Given the description of an element on the screen output the (x, y) to click on. 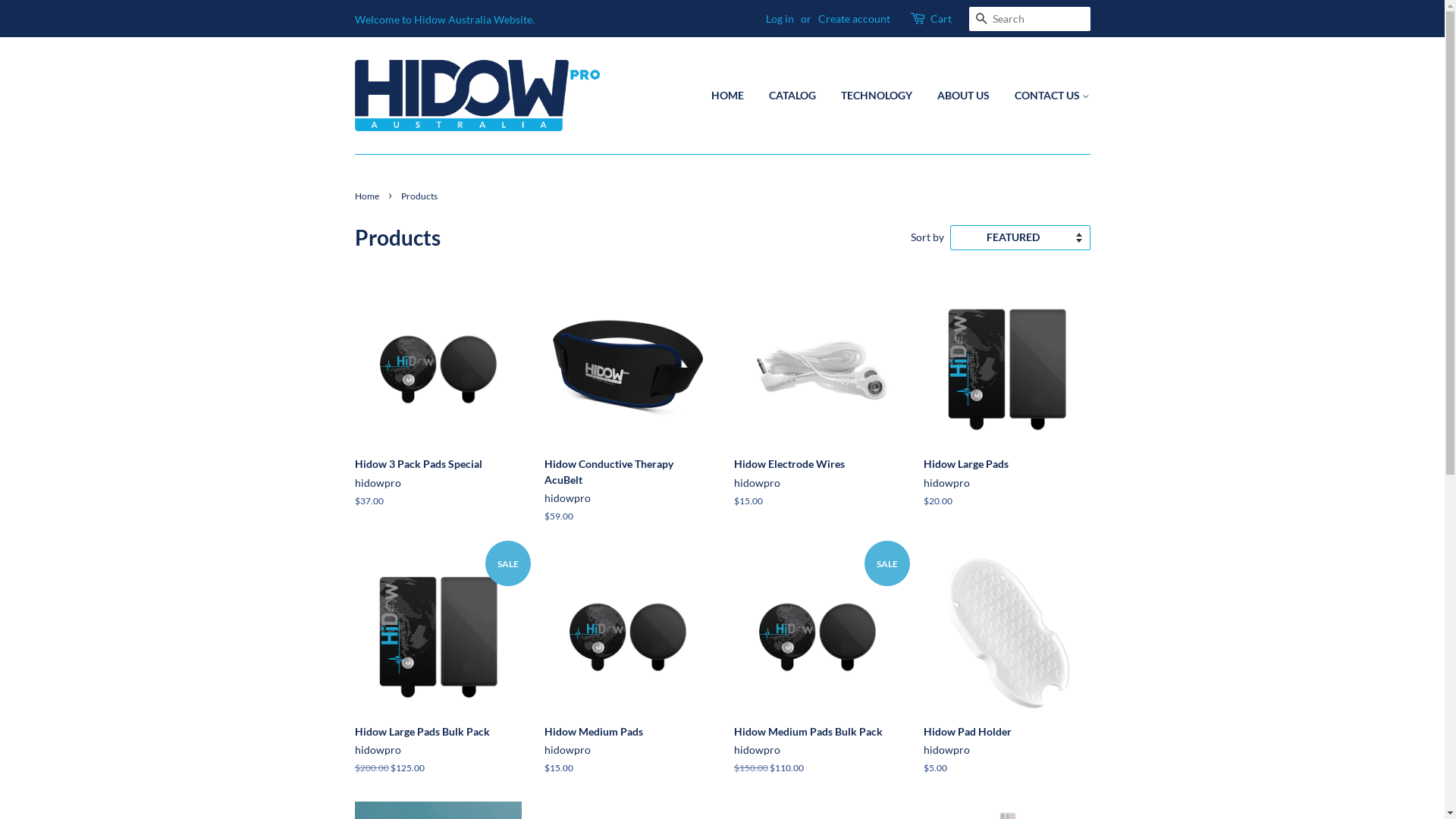
SALE
Hidow Large Pads Bulk Pack
hidowpro
$200.00 $125.00 Element type: text (437, 675)
Hidow Conductive Therapy AcuBelt
hidowpro
$59.00 Element type: text (627, 415)
ABOUT US Element type: text (963, 95)
SEARCH Element type: text (981, 18)
CATALOG Element type: text (792, 95)
Hidow 3 Pack Pads Special
hidowpro
$37.00 Element type: text (437, 407)
Log in Element type: text (779, 18)
Hidow Electrode Wires
hidowpro
$15.00 Element type: text (817, 407)
Cart Element type: text (939, 18)
HOME Element type: text (733, 95)
Hidow Large Pads
hidowpro
$20.00 Element type: text (1006, 407)
Hidow Medium Pads
hidowpro
$15.00 Element type: text (627, 675)
Create account Element type: text (853, 18)
TECHNOLOGY Element type: text (876, 95)
SALE
Hidow Medium Pads Bulk Pack
hidowpro
$150.00 $110.00 Element type: text (817, 675)
Hidow Pad Holder
hidowpro
$5.00 Element type: text (1006, 675)
CONTACT US Element type: text (1046, 95)
Home Element type: text (368, 195)
